Given the description of an element on the screen output the (x, y) to click on. 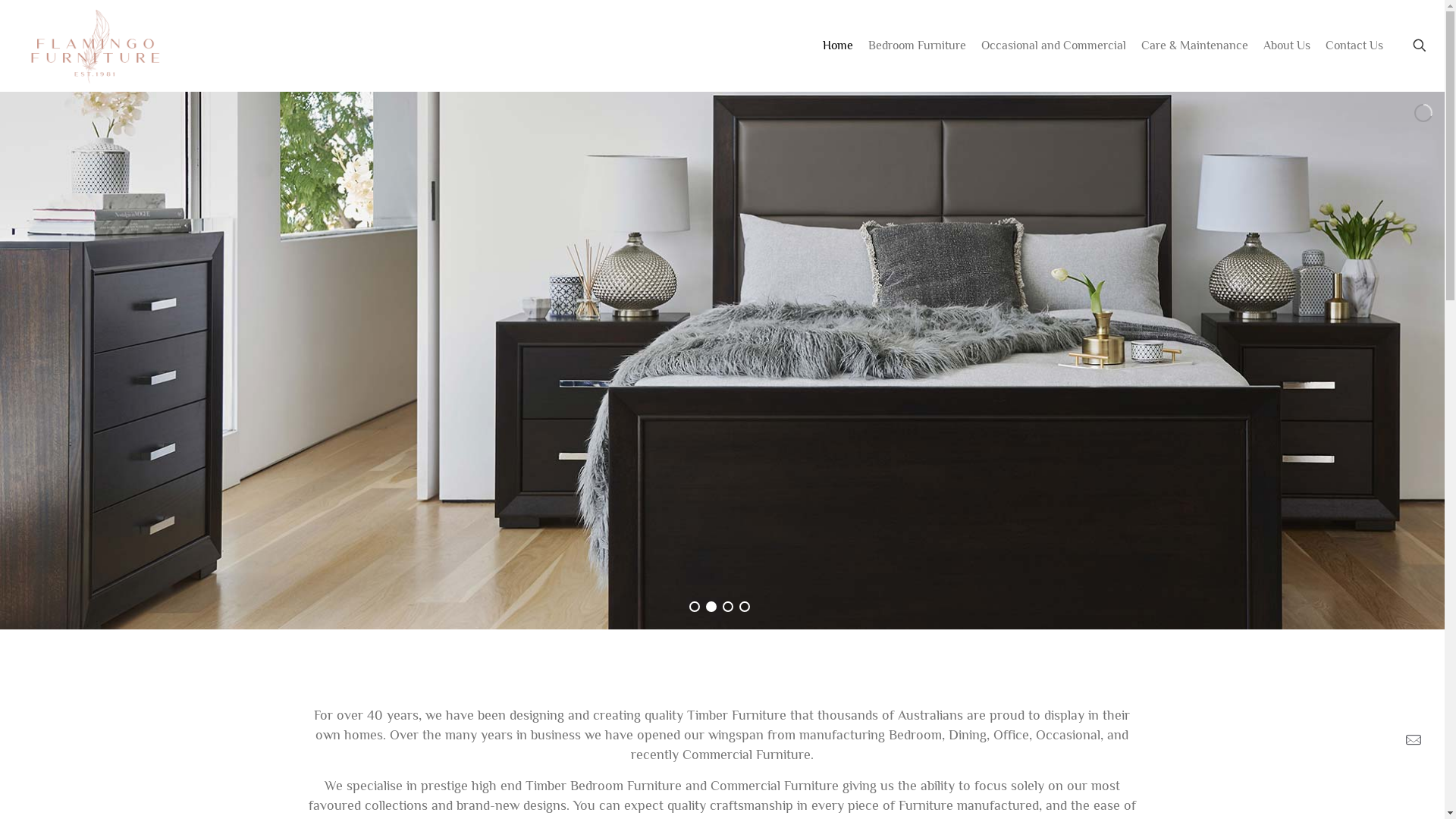
Contact Us Element type: text (1353, 45)
Bedroom Furniture Element type: text (916, 45)
Flamingo Furniture Element type: hover (94, 45)
Occasional and Commercial Element type: text (1053, 45)
Home Element type: text (837, 45)
About Us Element type: text (1286, 45)
Care & Maintenance Element type: text (1194, 45)
